Given the description of an element on the screen output the (x, y) to click on. 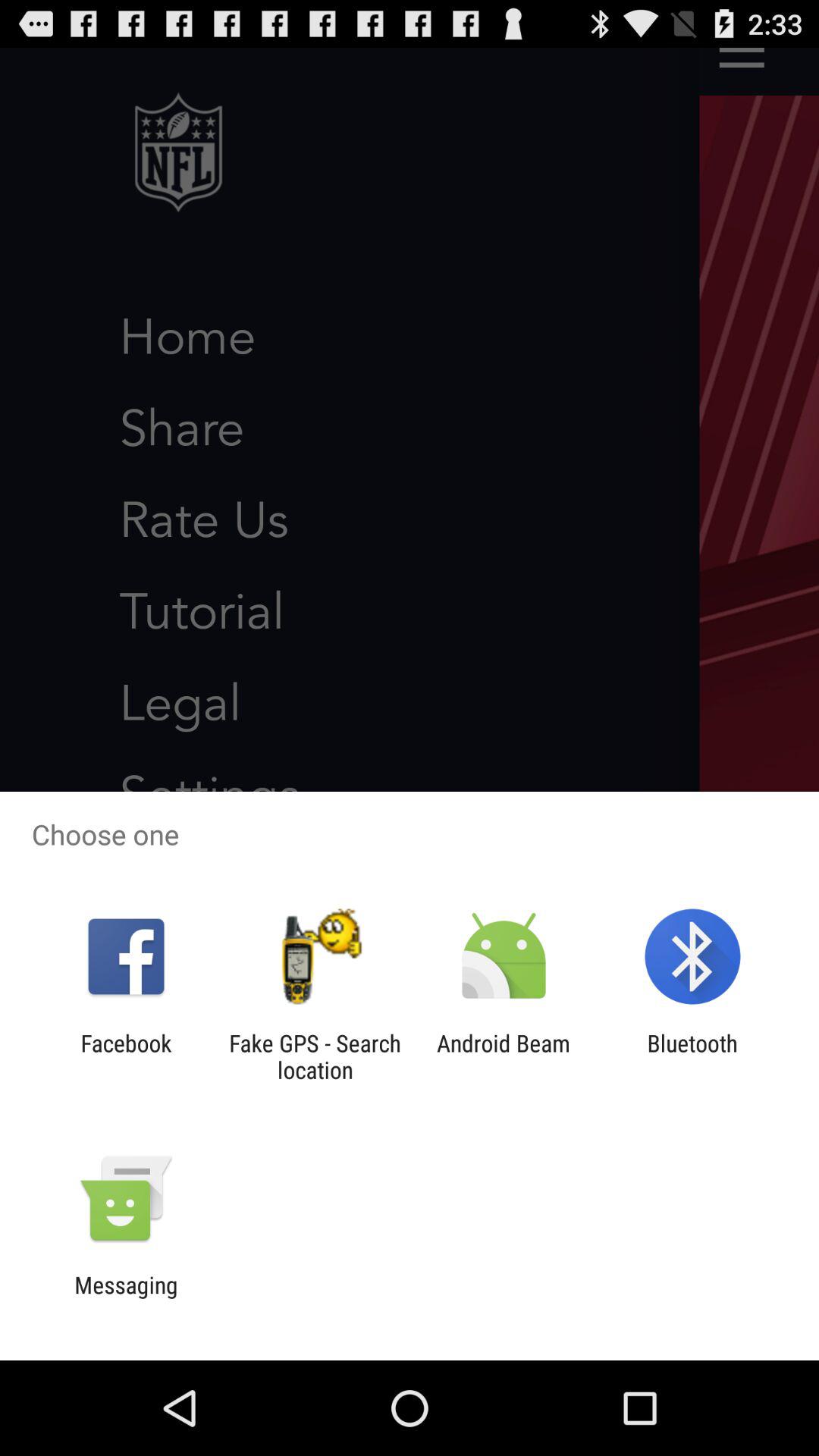
select the icon to the right of android beam icon (692, 1056)
